Given the description of an element on the screen output the (x, y) to click on. 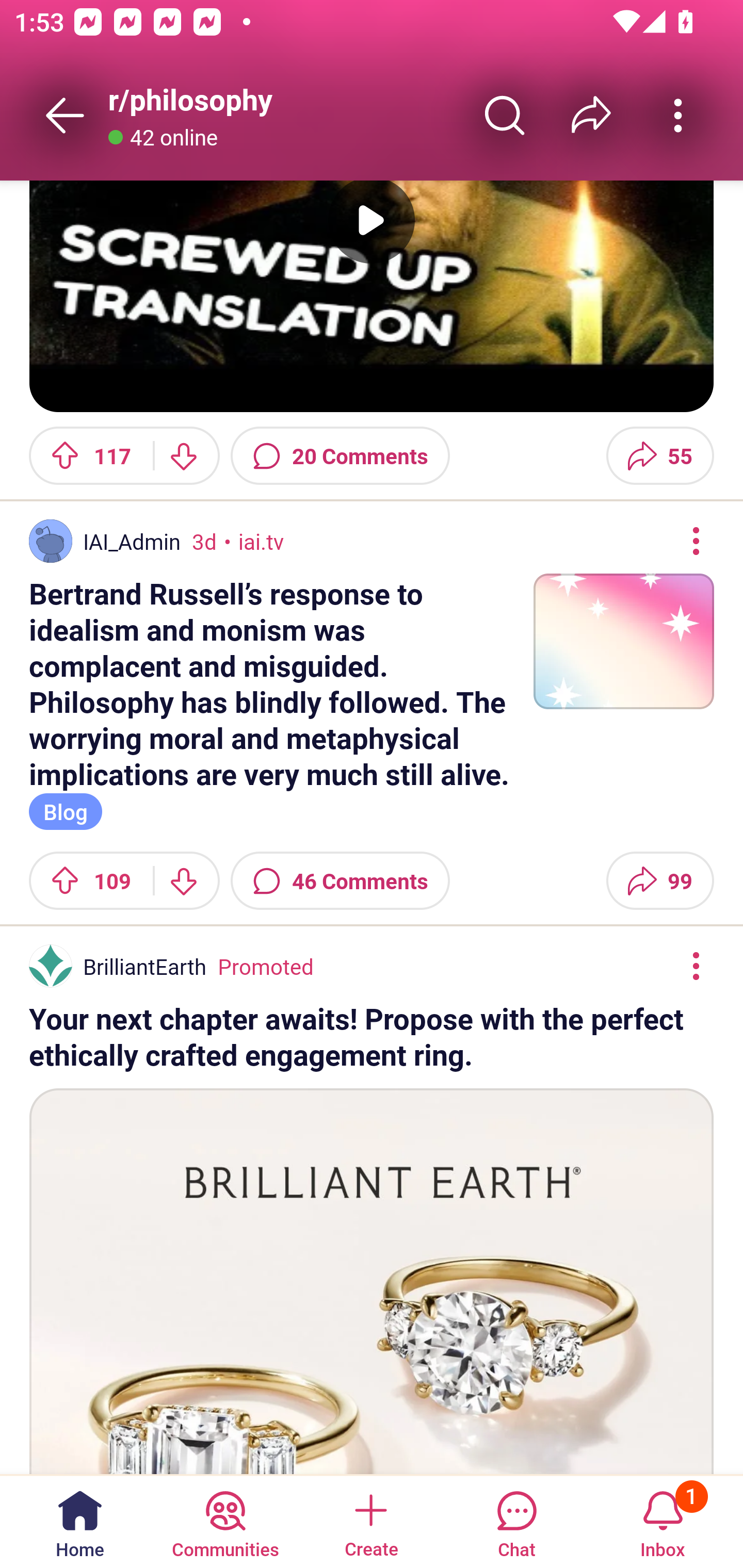
Back (64, 115)
Search r/﻿philosophy (504, 115)
Share r/﻿philosophy (591, 115)
More community actions (677, 115)
Blog (65, 811)
Home (80, 1520)
Communities (225, 1520)
Create a post Create (370, 1520)
Chat (516, 1520)
Inbox, has 1 notification 1 Inbox (662, 1520)
